Given the description of an element on the screen output the (x, y) to click on. 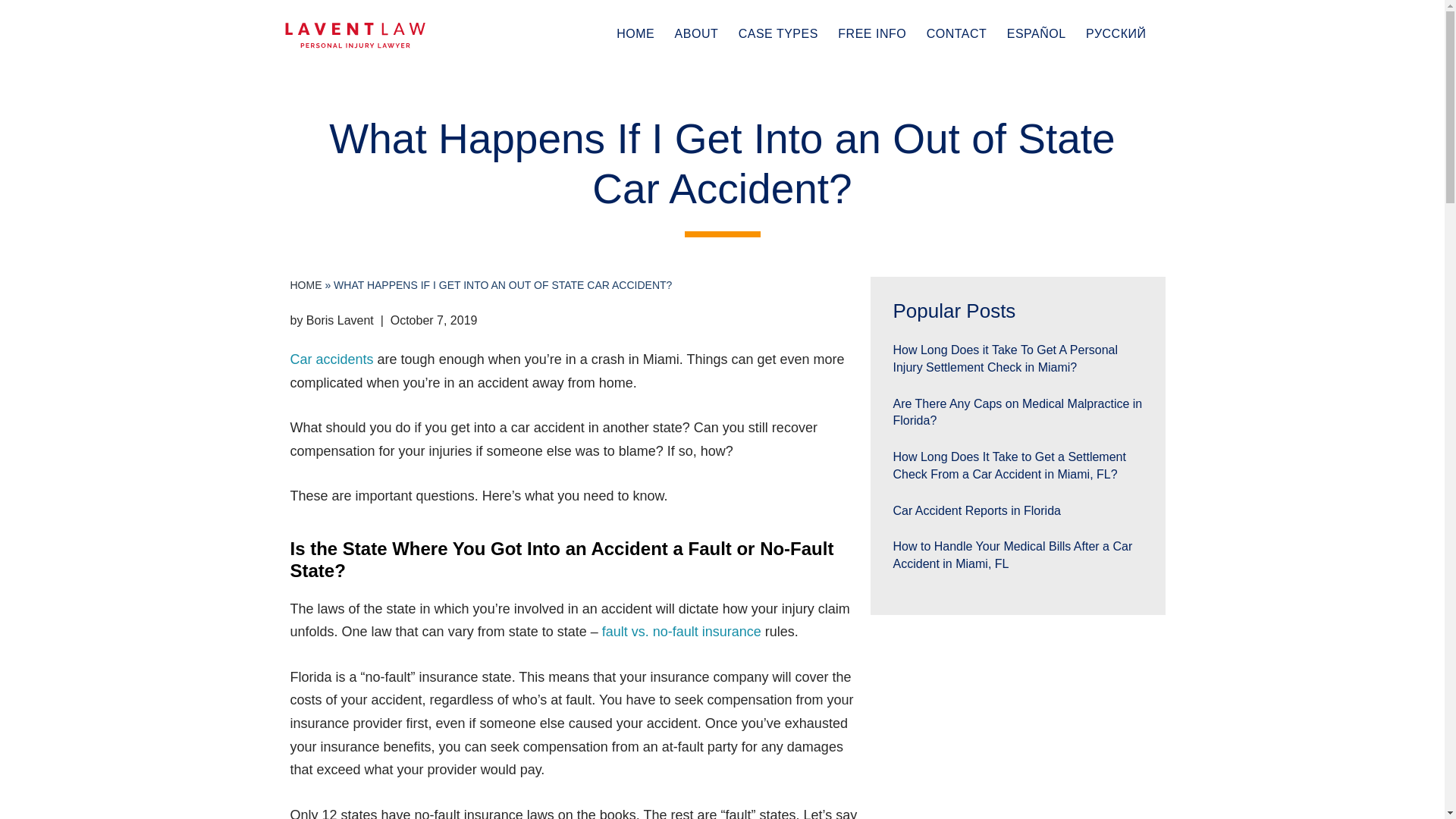
HOME (634, 20)
FREE INFO (871, 20)
ABOUT (697, 20)
CASE TYPES (778, 20)
Lavent Law, P.A. (354, 34)
CONTACT (956, 20)
